Given the description of an element on the screen output the (x, y) to click on. 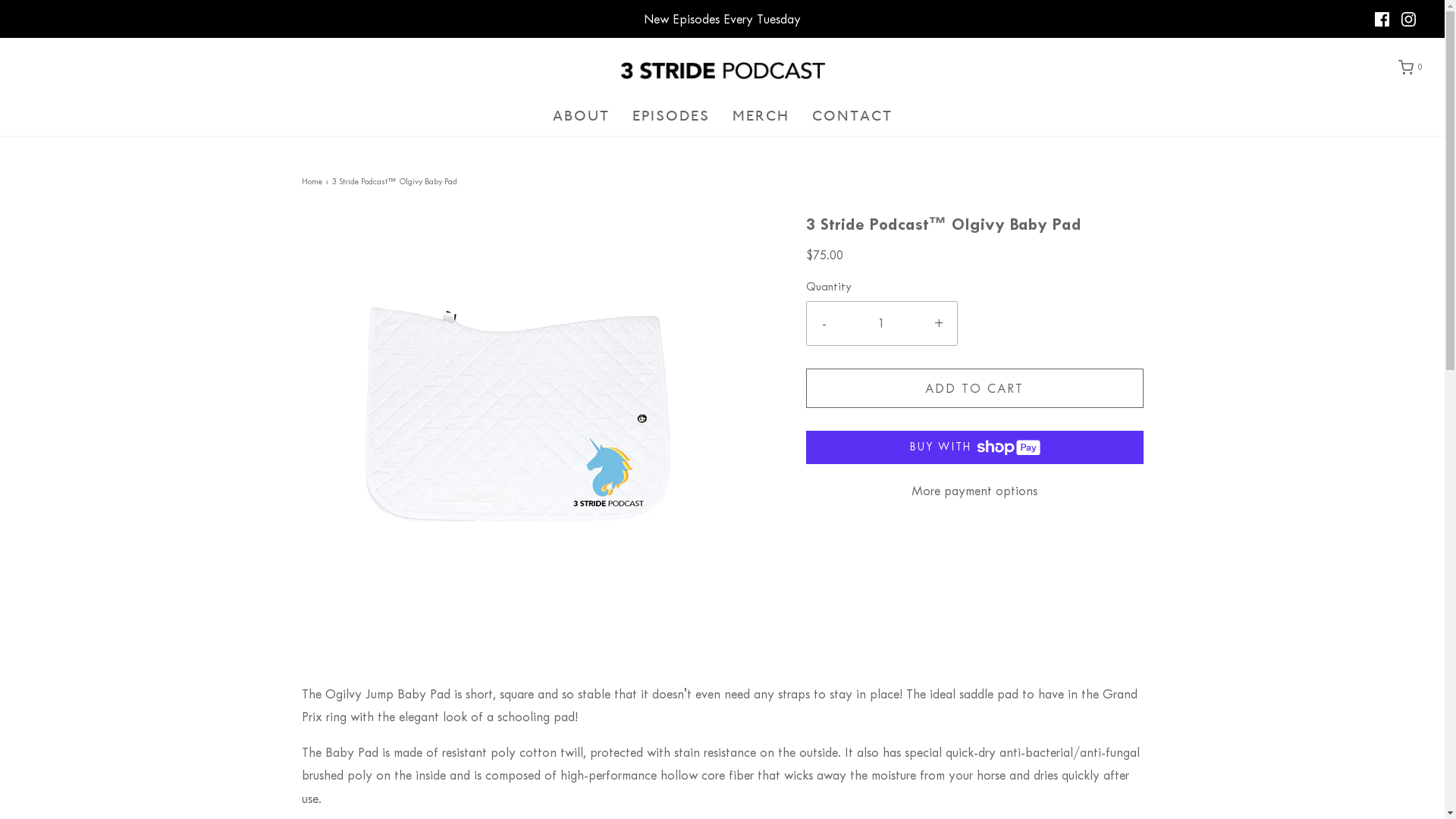
ADD TO CART Element type: text (973, 388)
EPISODES Element type: text (670, 115)
Instagram icon Element type: text (1408, 19)
Facebook icon Element type: text (1381, 19)
- Element type: text (824, 322)
MERCH Element type: text (760, 115)
+ Element type: text (938, 322)
More payment options Element type: text (973, 490)
0 Element type: text (1408, 67)
Home Element type: text (313, 181)
ABOUT Element type: text (580, 115)
CONTACT Element type: text (851, 115)
